Given the description of an element on the screen output the (x, y) to click on. 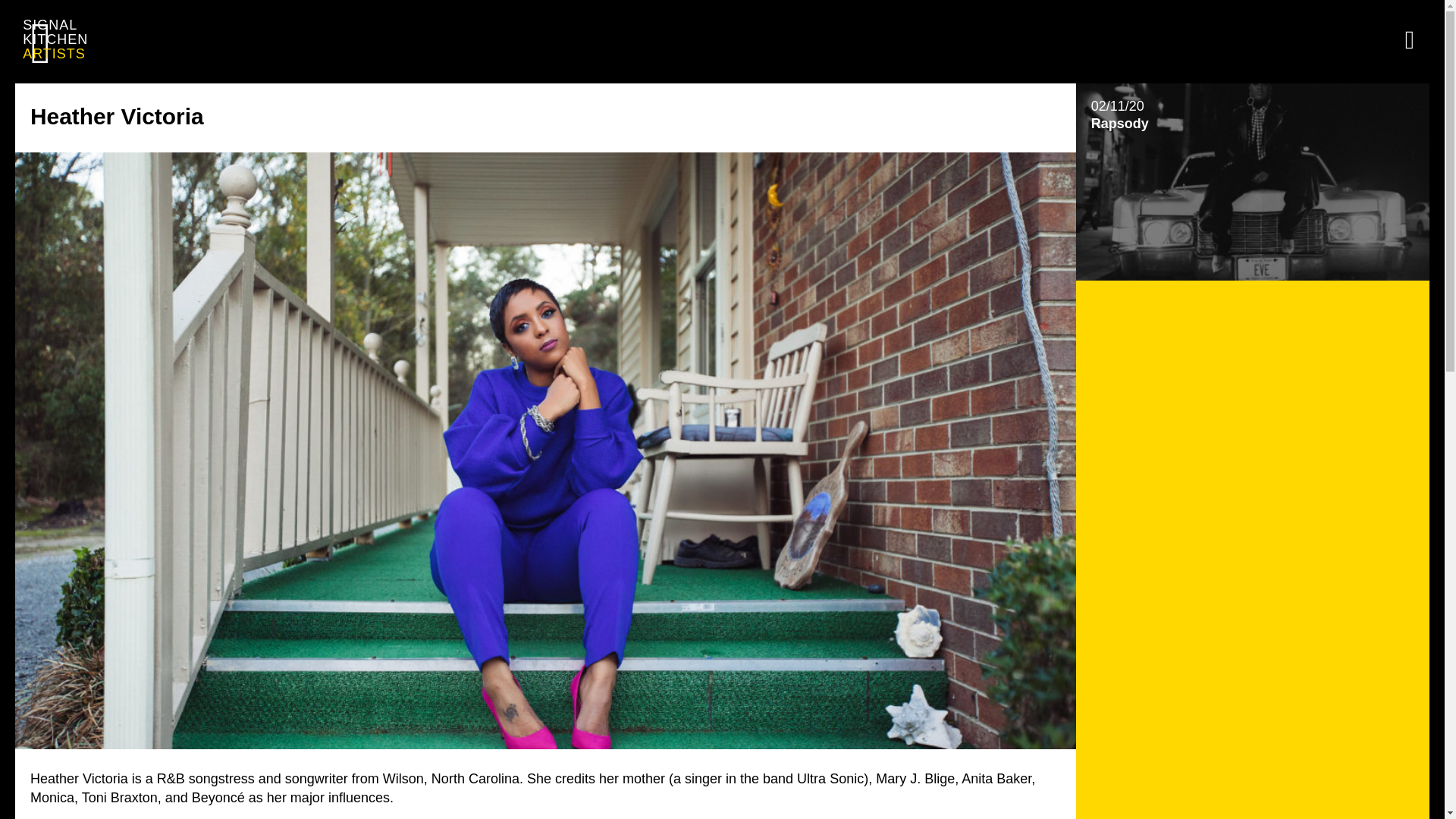
View navigation (1409, 39)
Rapsody (1252, 180)
